Given the description of an element on the screen output the (x, y) to click on. 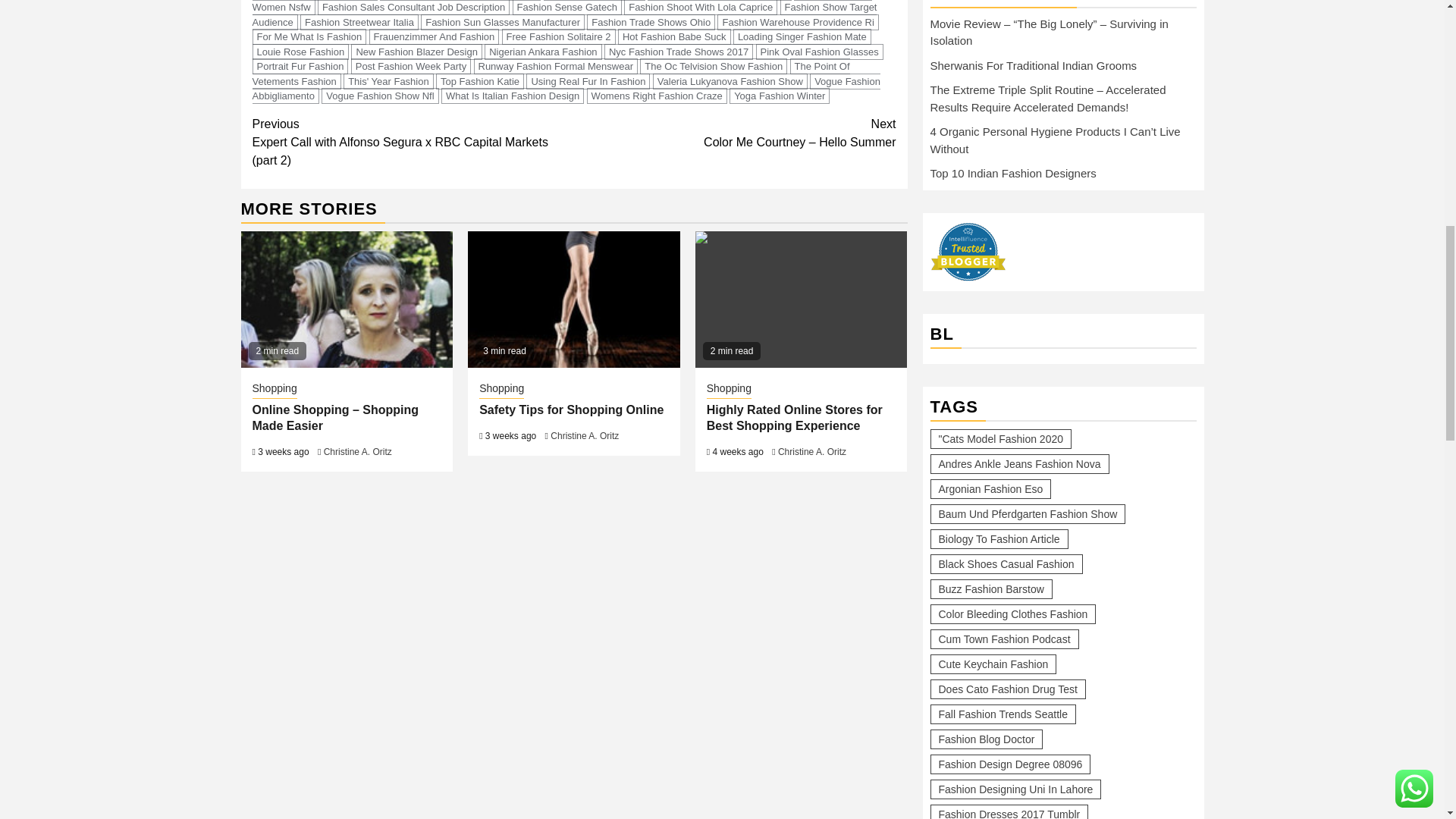
Safety Tips for Shopping Online (573, 298)
Highly Rated Online Stores for Best Shopping Experience (801, 298)
